Given the description of an element on the screen output the (x, y) to click on. 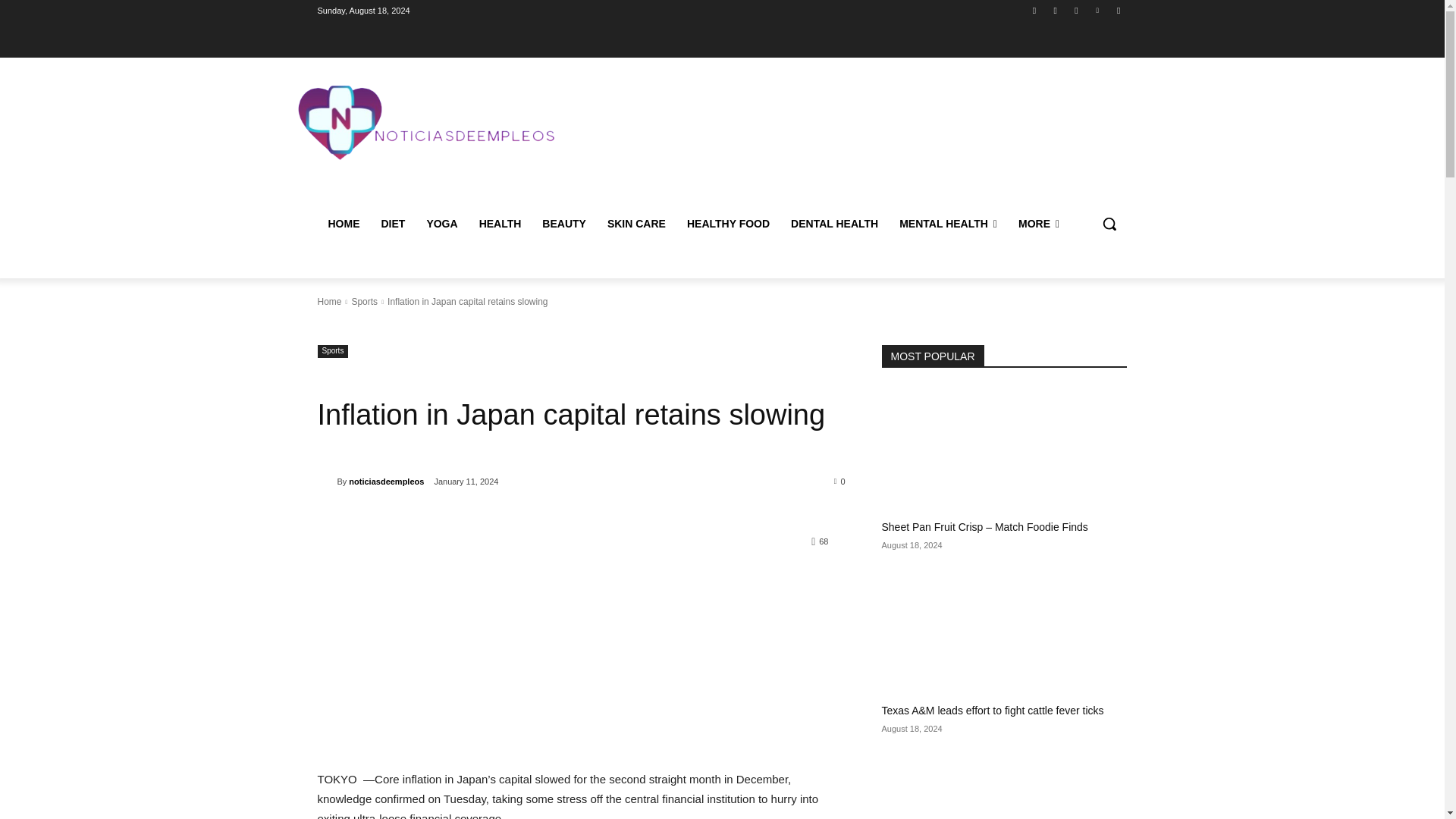
Facebook (1034, 9)
DIET (391, 223)
Twitter (1075, 9)
HEALTH (500, 223)
YOGA (440, 223)
Instagram (1055, 9)
HOME (343, 223)
Vimeo (1097, 9)
Youtube (1117, 9)
